Given the description of an element on the screen output the (x, y) to click on. 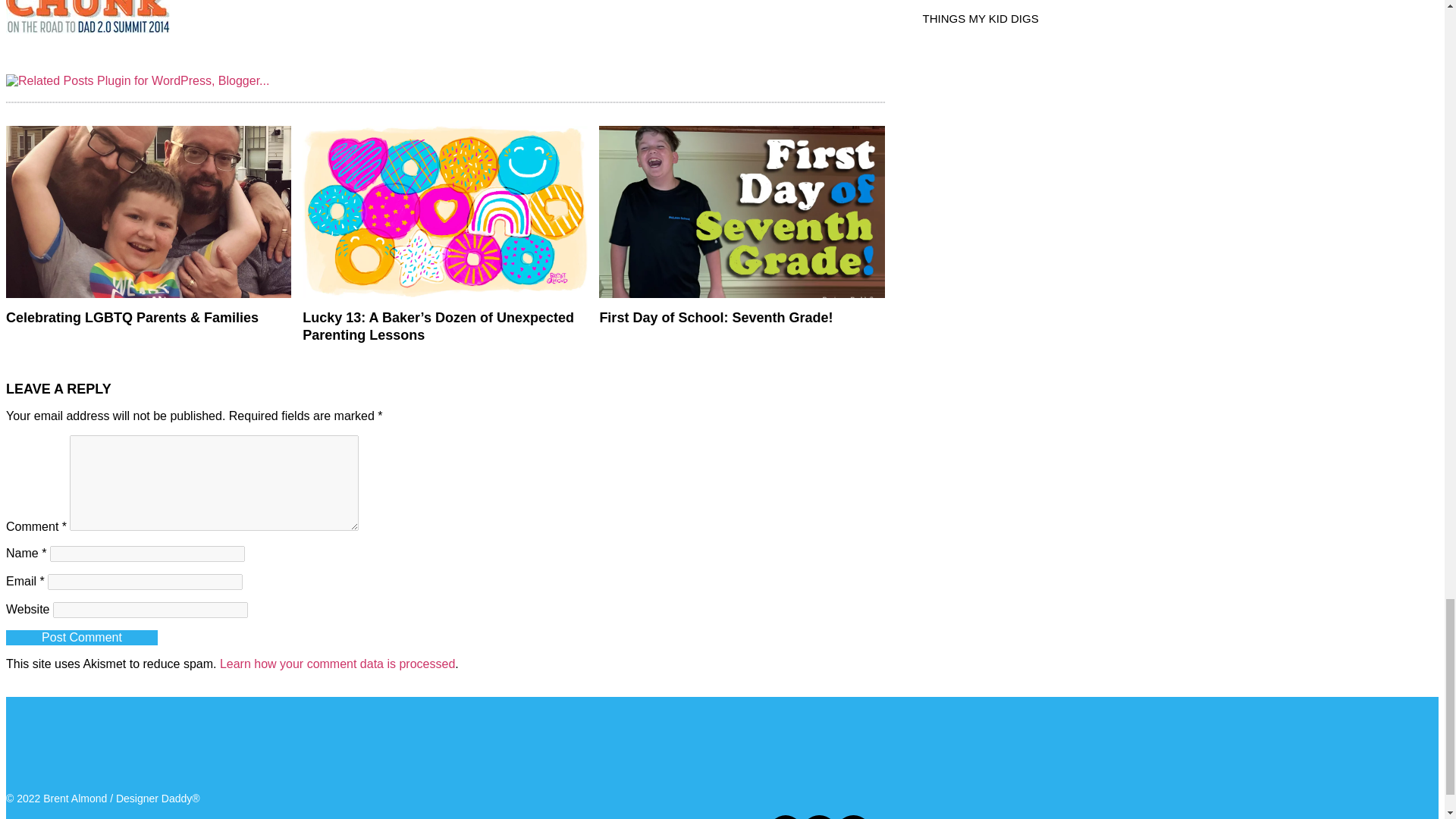
Post Comment (81, 637)
